Given the description of an element on the screen output the (x, y) to click on. 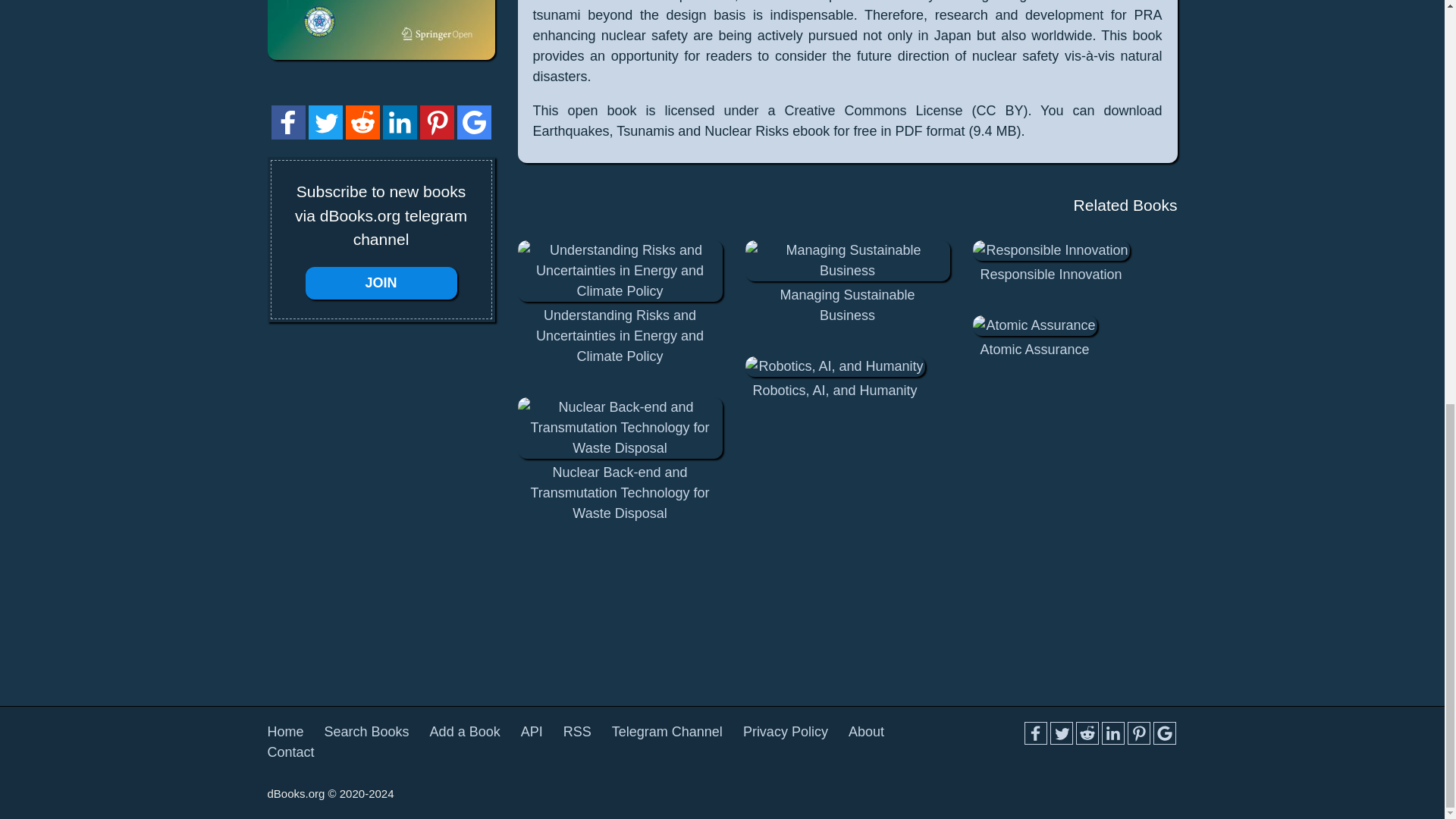
Share to Reddit (1086, 732)
Share to Reddit (362, 134)
Share to LinkedIn (1112, 732)
Share to Twitter (1060, 732)
Share to Pinterest (437, 122)
Add to Google Bookmarks (473, 122)
Share to LinkedIn (398, 122)
Share to Twitter (324, 134)
Share to Reddit (363, 122)
Share to Pinterest (1138, 732)
